Given the description of an element on the screen output the (x, y) to click on. 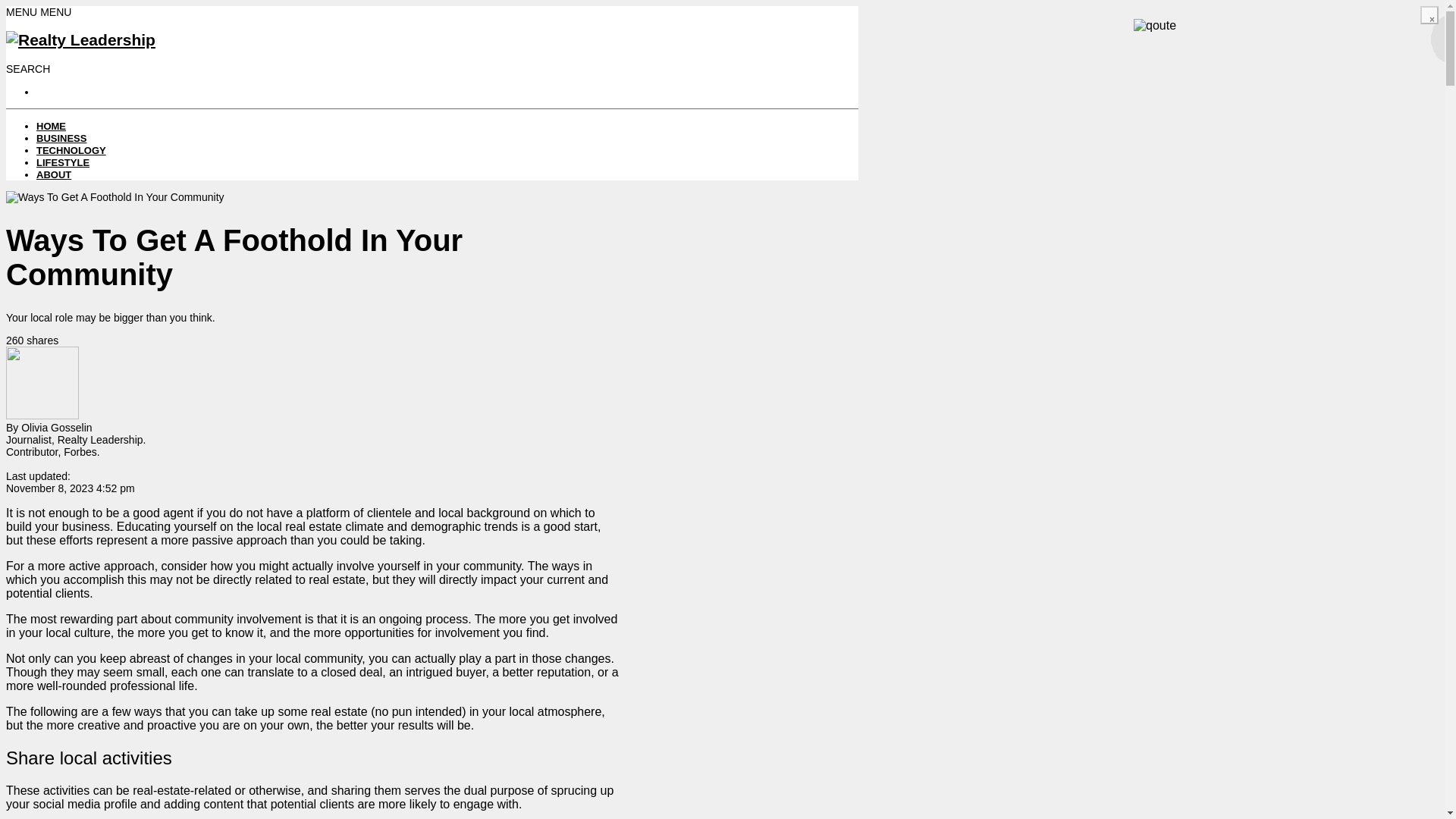
SEARCH (27, 69)
TECHNOLOGY (71, 150)
LIFESTYLE (62, 162)
November 5, 2023 1:33 pm (70, 488)
BUSINESS (60, 138)
MENU (22, 11)
HOME (50, 125)
MENU (55, 11)
Realty Leadership (80, 39)
Ways To Get A Foothold In Your Community (114, 196)
ABOUT (53, 174)
